Given the description of an element on the screen output the (x, y) to click on. 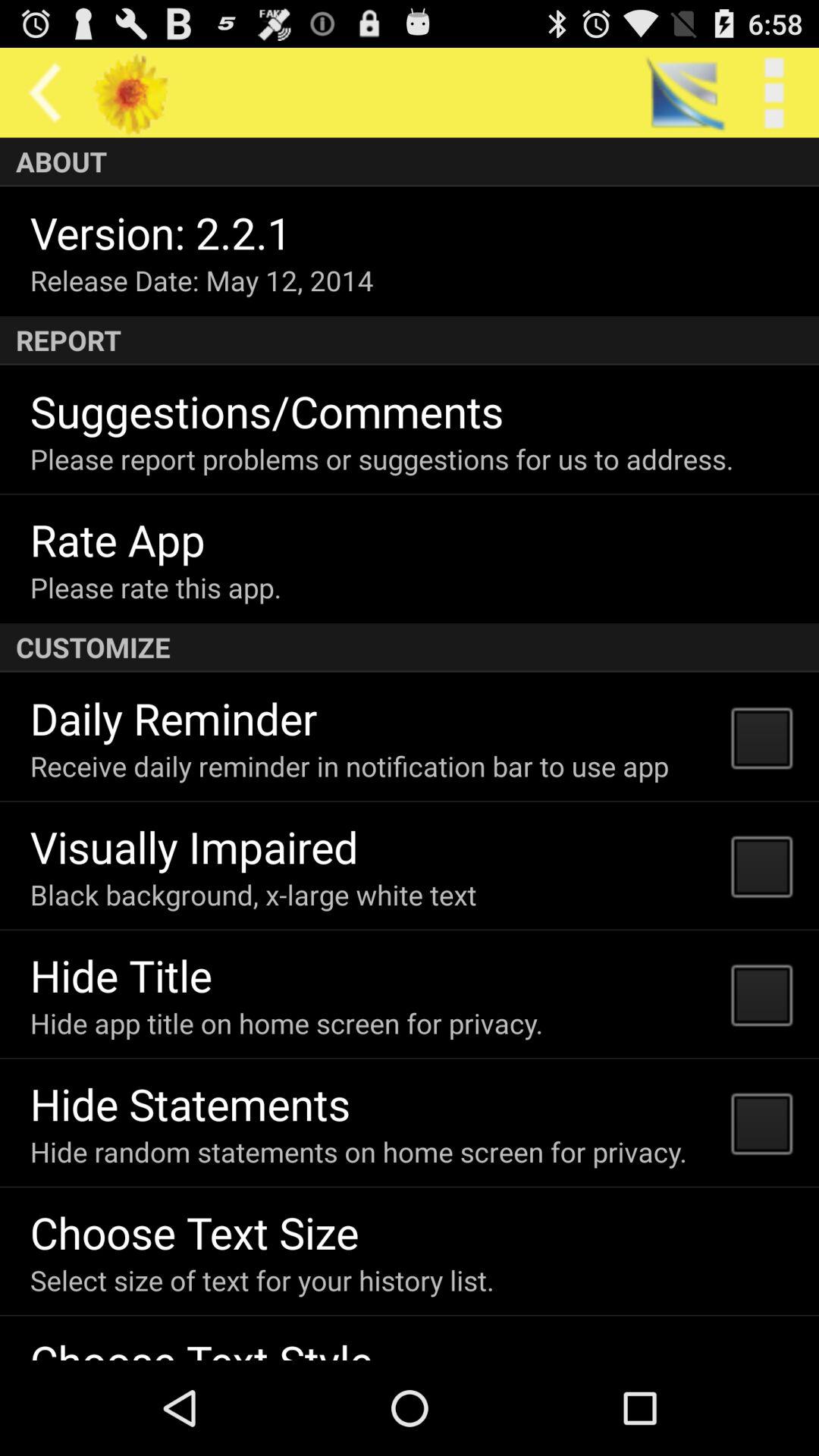
scroll to the customize icon (409, 647)
